Given the description of an element on the screen output the (x, y) to click on. 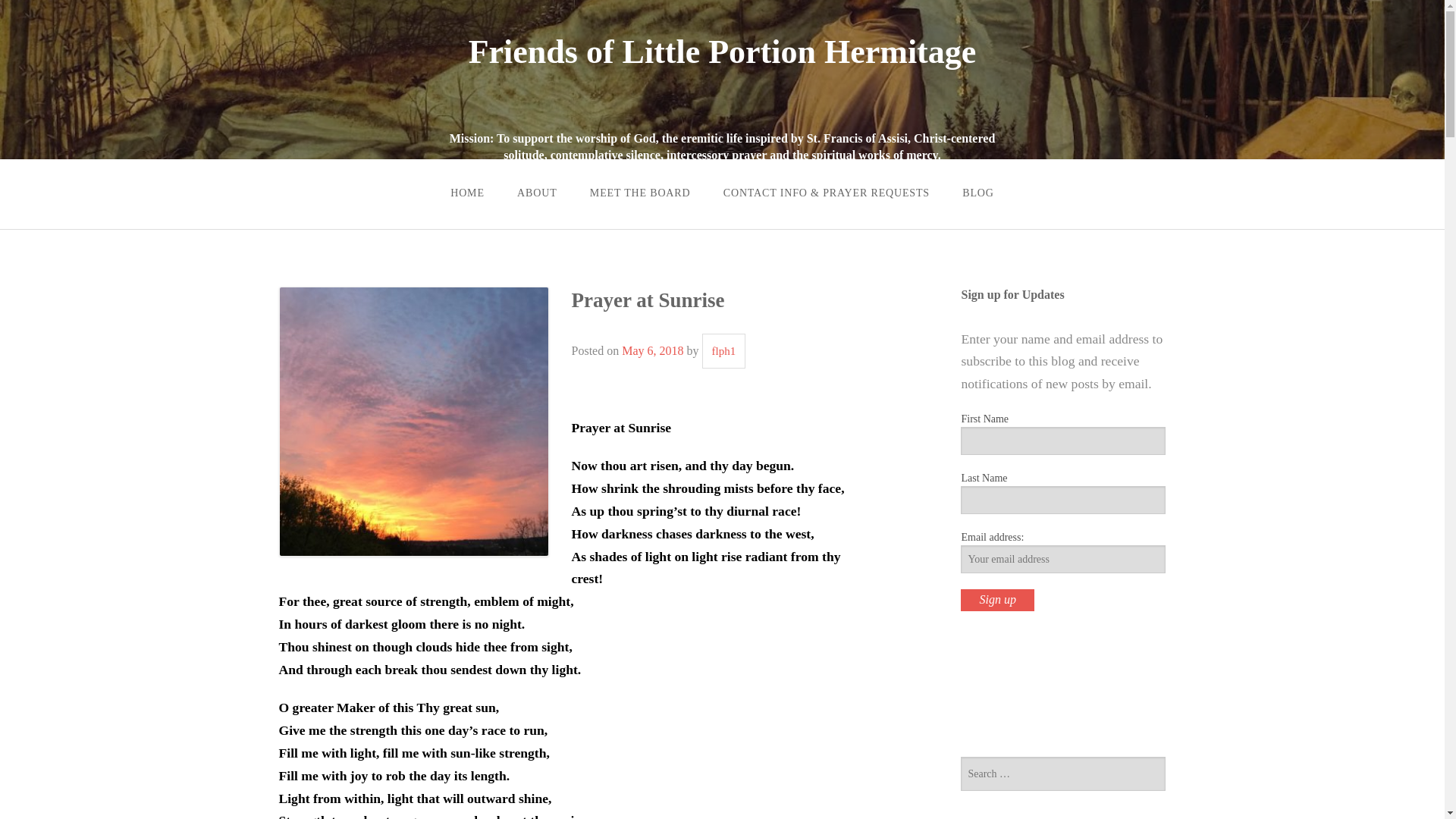
BLOG (978, 192)
Facebook (978, 683)
HOME (466, 192)
flph1 (723, 350)
Search (34, 11)
Friends of Little Portion Hermitage (722, 51)
Twitter (1018, 683)
MEET THE BOARD (639, 192)
May 6, 2018 (651, 350)
Sign up (996, 599)
